Given the description of an element on the screen output the (x, y) to click on. 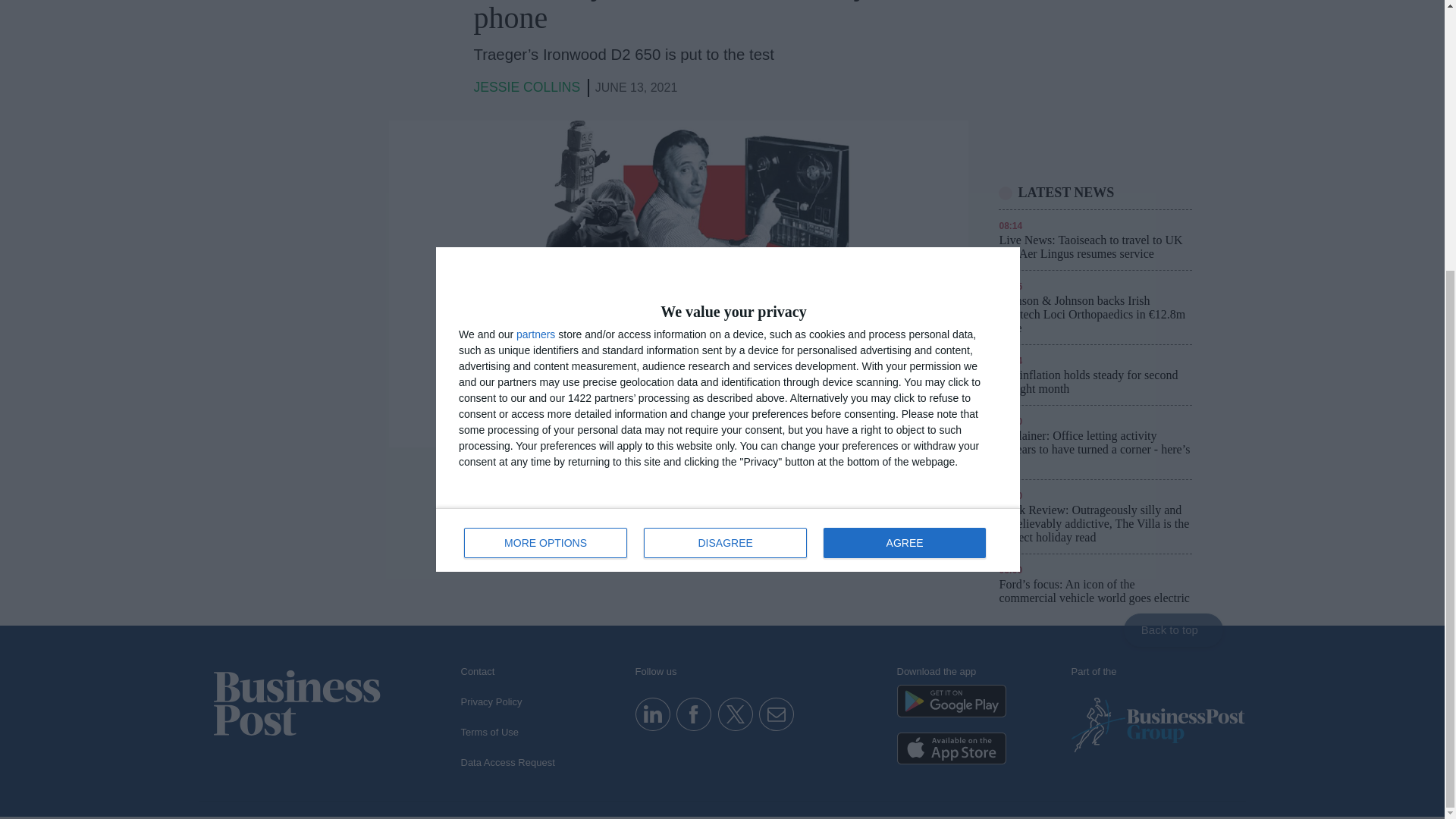
AGREE (904, 147)
Email (775, 712)
DISAGREE (727, 144)
MORE OPTIONS (724, 147)
Facebook (545, 147)
Linkedin (693, 712)
Twitter (652, 712)
